Given the description of an element on the screen output the (x, y) to click on. 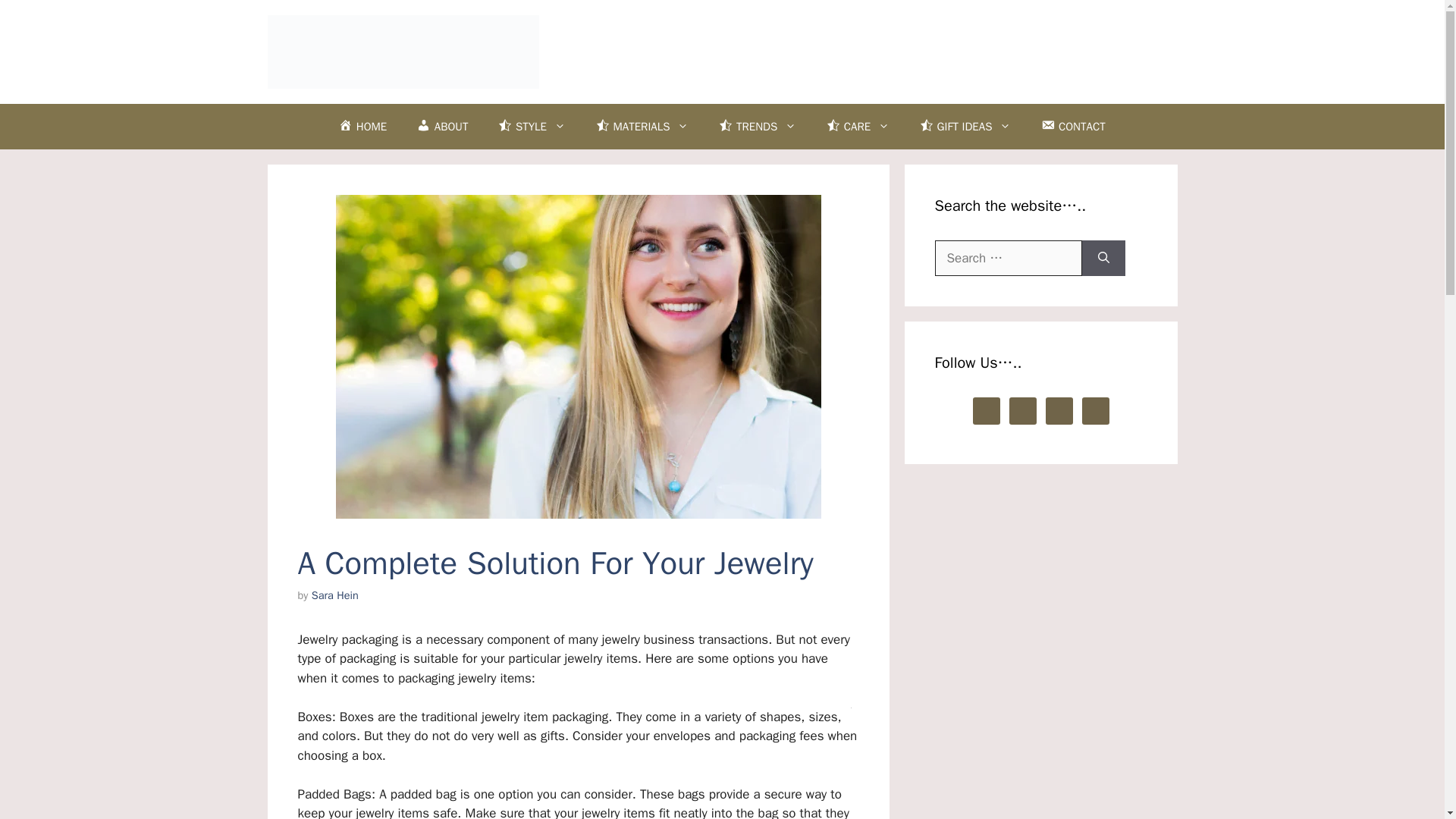
View all posts by Sara Hein (334, 594)
Search for: (1007, 258)
